Given the description of an element on the screen output the (x, y) to click on. 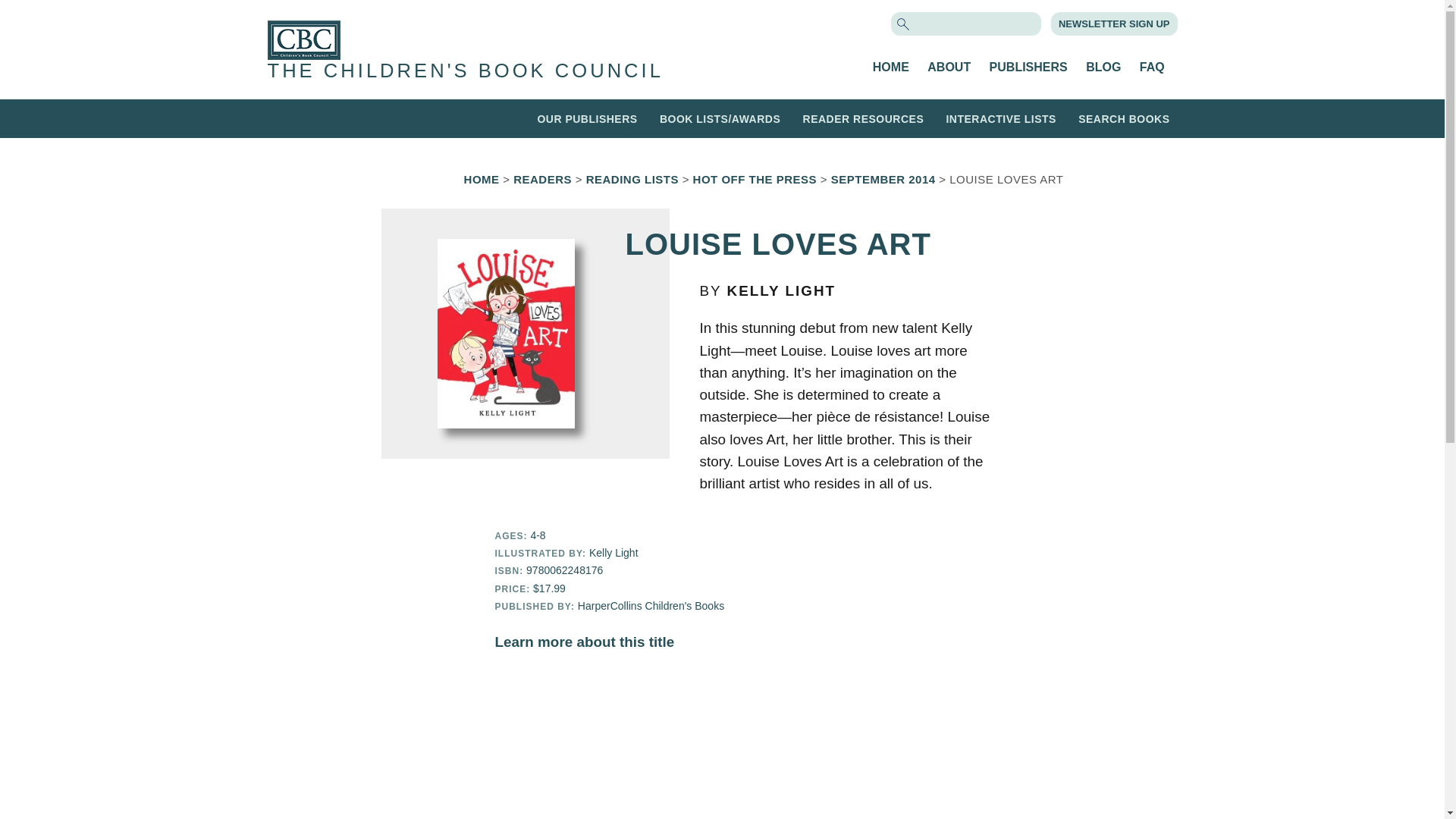
HOME (890, 66)
THE CHILDREN'S BOOK COUNCIL (464, 70)
BLOG (1103, 66)
INTERACTIVE LISTS (999, 118)
NEWSLETTER SIGN UP (1114, 23)
ABOUT (949, 66)
Search (39, 13)
FAQ (1152, 66)
PUBLISHERS (1028, 66)
OUR PUBLISHERS (587, 118)
READER RESOURCES (863, 118)
